Given the description of an element on the screen output the (x, y) to click on. 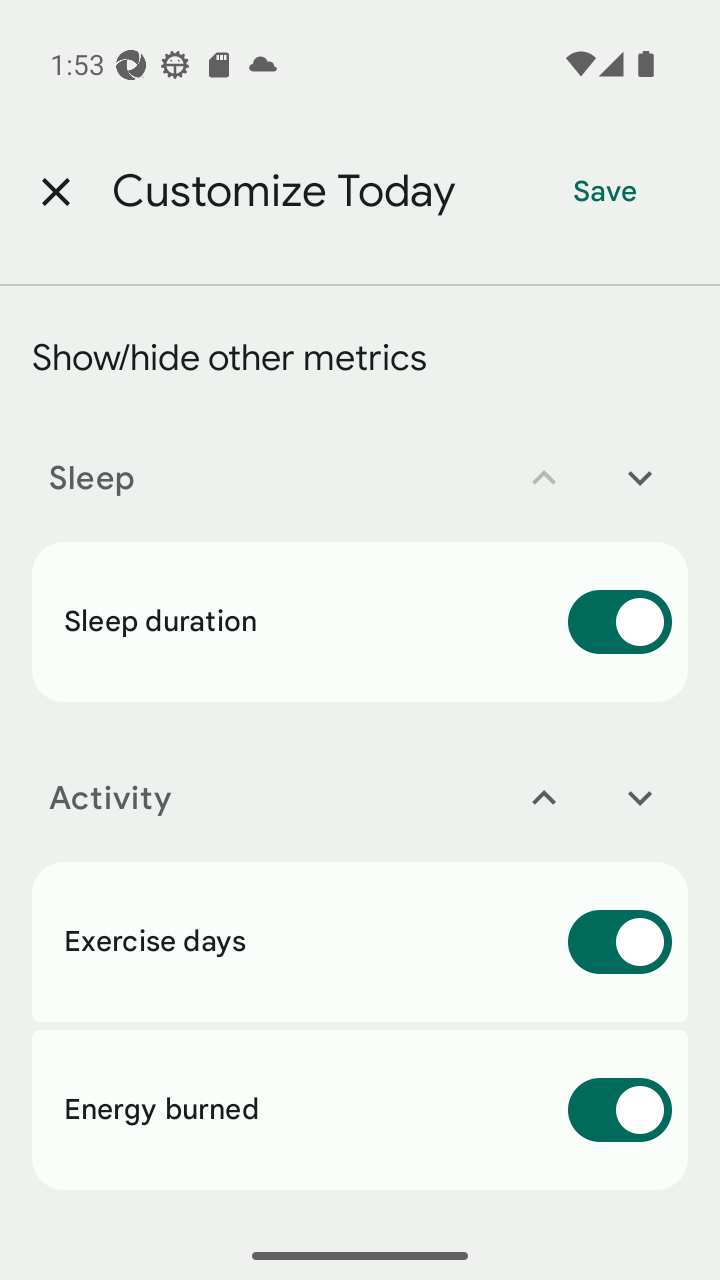
Close (55, 191)
Save (605, 191)
Move Sleep up (543, 478)
Move Sleep down (639, 478)
Sleep duration (359, 621)
Move Activity up (543, 798)
Move Activity down (639, 798)
Exercise days (359, 941)
Energy burned (359, 1110)
